Given the description of an element on the screen output the (x, y) to click on. 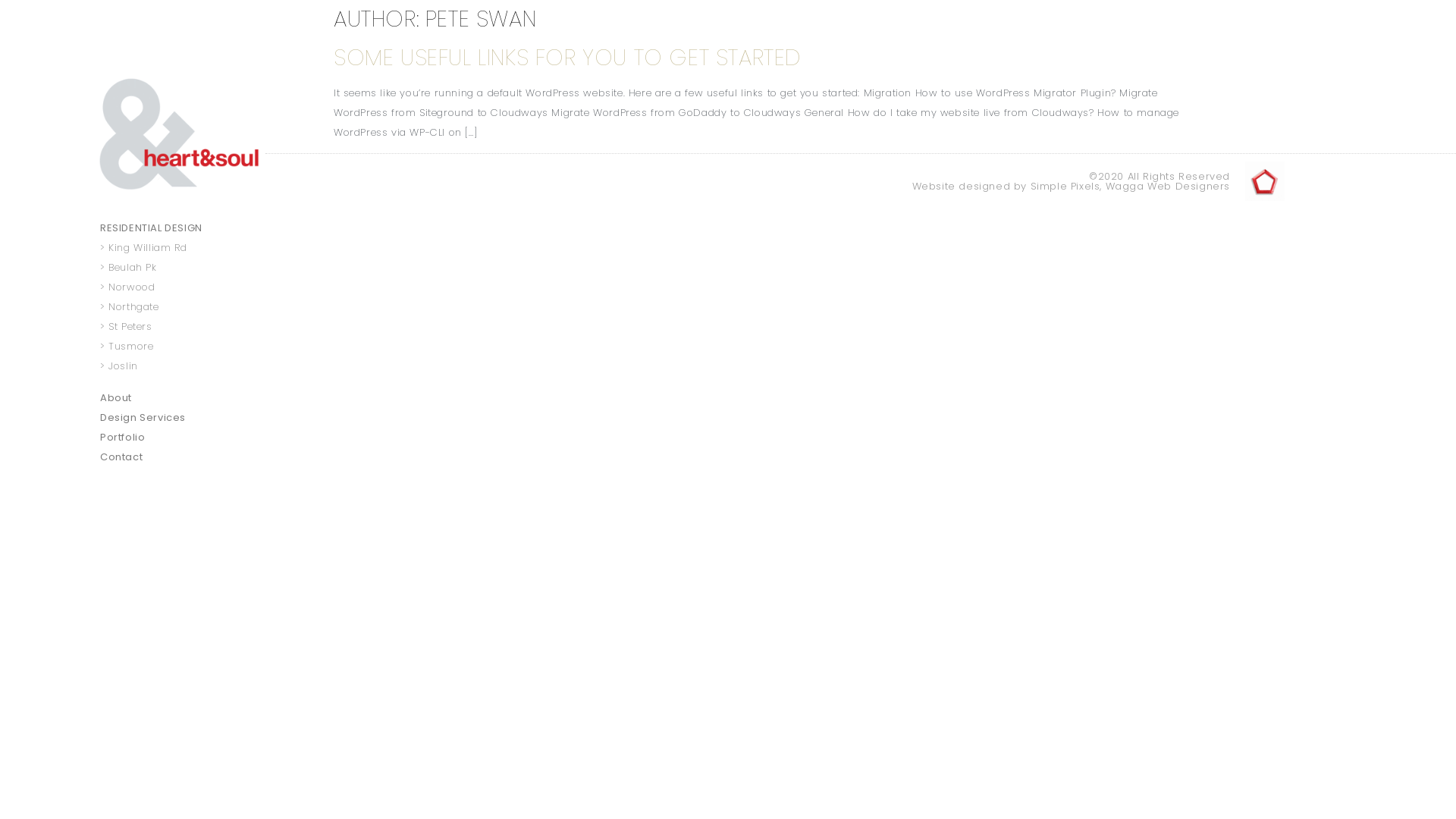
> Tusmore Element type: text (182, 346)
> Norwood Element type: text (182, 287)
> King William Rd Element type: text (182, 247)
Design Services Element type: text (182, 417)
> Beulah Pk Element type: text (182, 267)
> Joslin Element type: text (182, 366)
Simple Pixels, Wagga Web Designers Element type: text (1130, 185)
About Element type: text (182, 397)
Contact Element type: text (182, 457)
SOME USEFUL LINKS FOR YOU TO GET STARTED Element type: text (567, 57)
> Northgate Element type: text (182, 306)
> St Peters Element type: text (182, 326)
Portfolio Element type: text (182, 437)
